Given the description of an element on the screen output the (x, y) to click on. 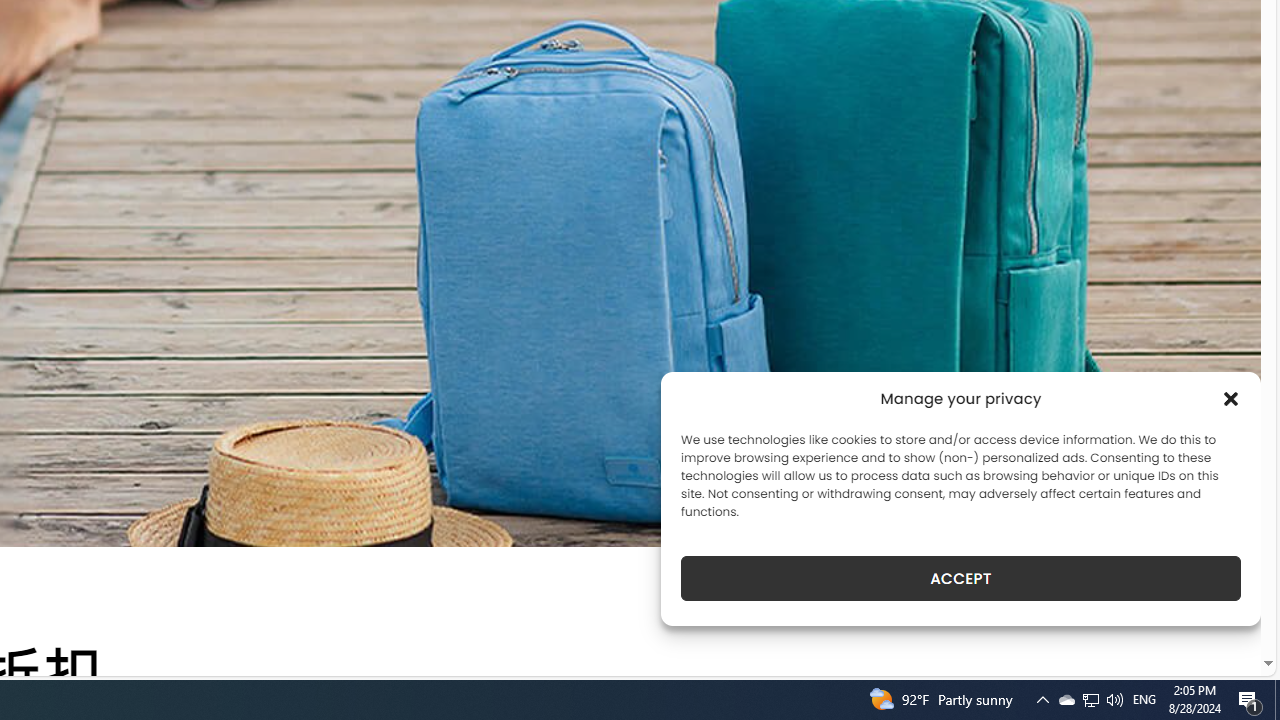
Class: cmplz-close (1231, 398)
ACCEPT (960, 578)
